Given the description of an element on the screen output the (x, y) to click on. 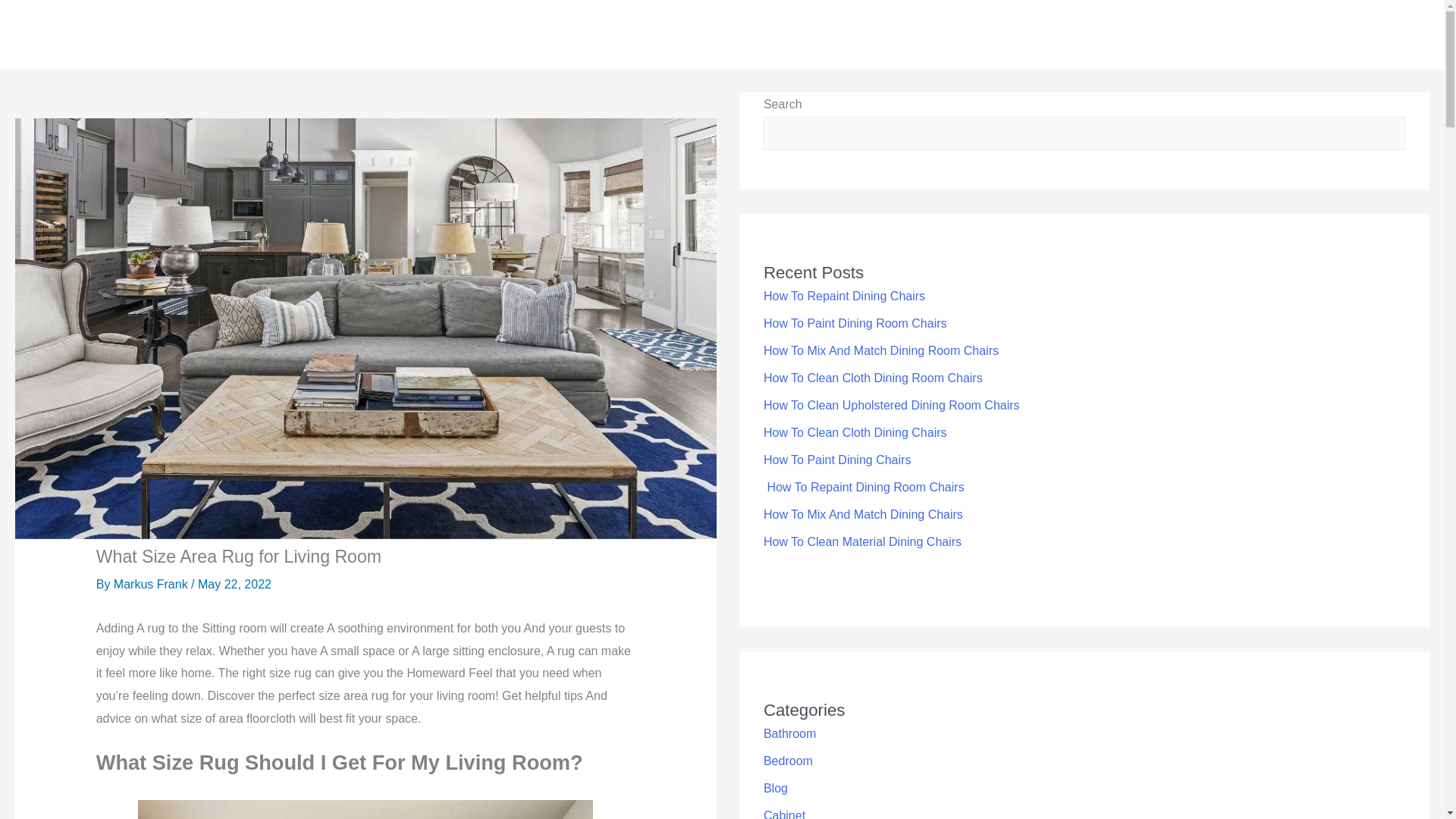
HOME (1086, 34)
BLOG (1387, 34)
Markus Frank (151, 584)
How To Mix And Match Dining Room Chairs (880, 350)
How To Clean Upholstered Dining Room Chairs (891, 404)
How To Paint Dining Chairs (836, 459)
How To Repaint Dining Chairs (843, 295)
How To Clean Cloth Dining Chairs (854, 431)
LIVING (1155, 34)
How To Clean Cloth Dining Room Chairs (872, 377)
How To Paint Dining Room Chairs (854, 323)
KITCHEN (1233, 34)
OUTDOOR (1315, 34)
View all posts by Markus Frank (151, 584)
